Given the description of an element on the screen output the (x, y) to click on. 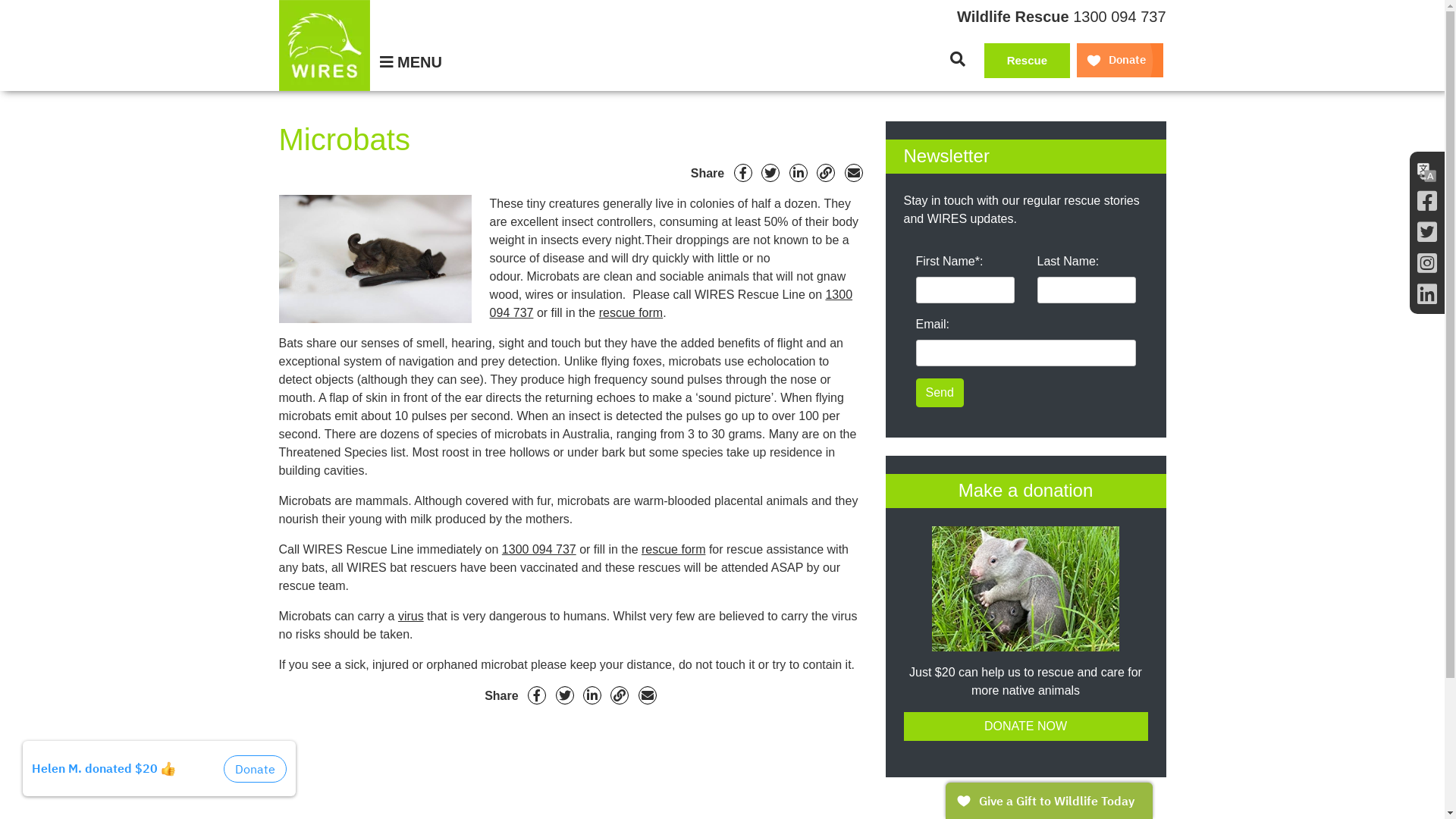
Rescue Element type: text (1027, 60)
Send Element type: text (939, 392)
1300 094 737 Element type: text (1119, 16)
1300 094 737 Element type: text (539, 548)
1300 094 737 Element type: text (670, 303)
MENU Element type: text (410, 61)
rescue form Element type: text (673, 548)
Donate Button Element type: hover (1119, 60)
virus Element type: text (410, 615)
DONATE NOW Element type: text (1025, 726)
rescue form Element type: text (630, 312)
